Given the description of an element on the screen output the (x, y) to click on. 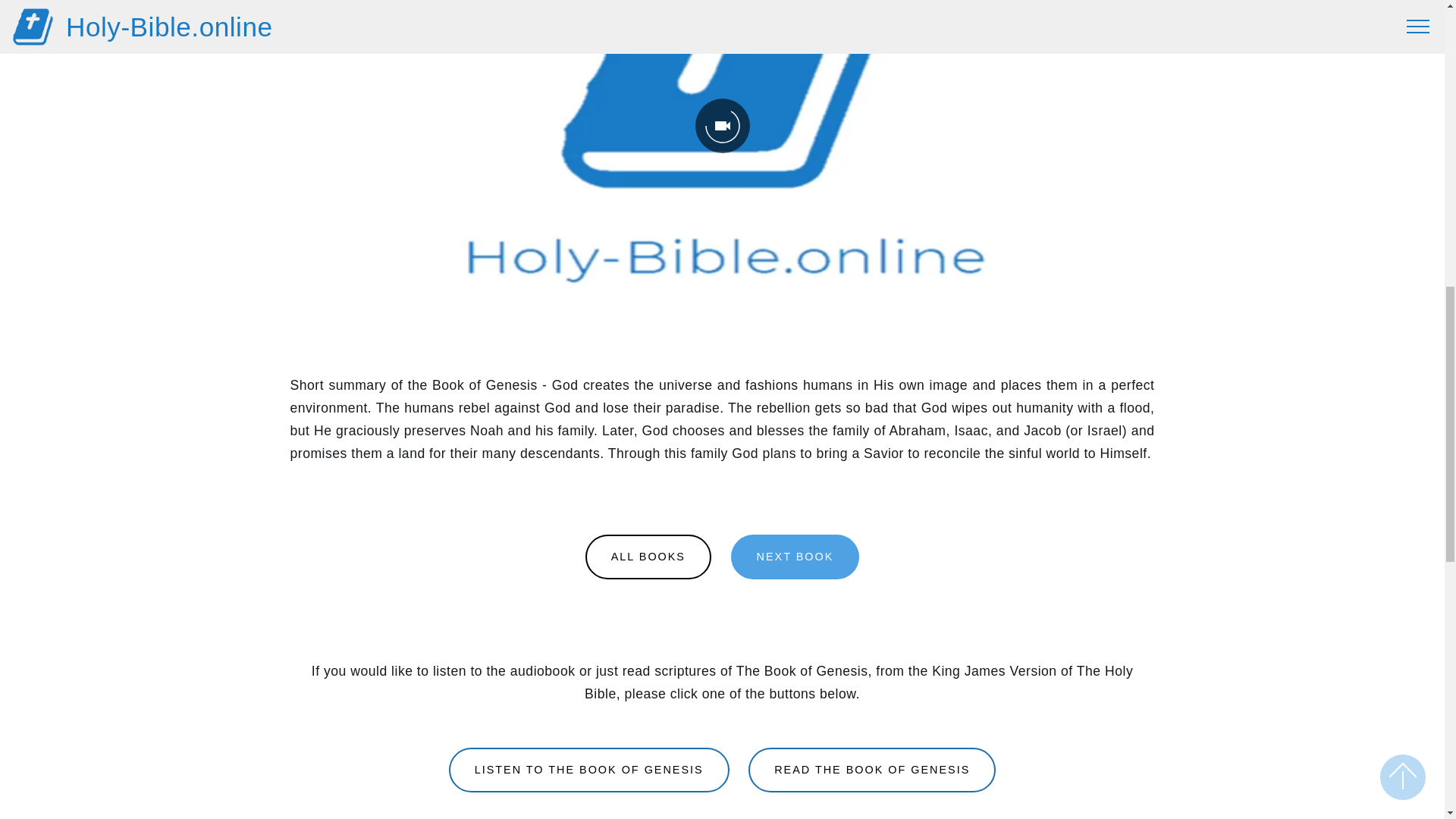
ALL BOOKS (648, 556)
Go to the list of all Books (648, 556)
NEXT BOOK (795, 556)
LISTEN TO THE BOOK OF GENESIS (588, 769)
READ THE BOOK OF GENESIS (871, 769)
Listen to The Book of Exodus (795, 556)
Listen to audiobook of the Book of Genesis, KJV (588, 769)
Read the scriptures of the Book of Genesis, KJV (871, 769)
